Given the description of an element on the screen output the (x, y) to click on. 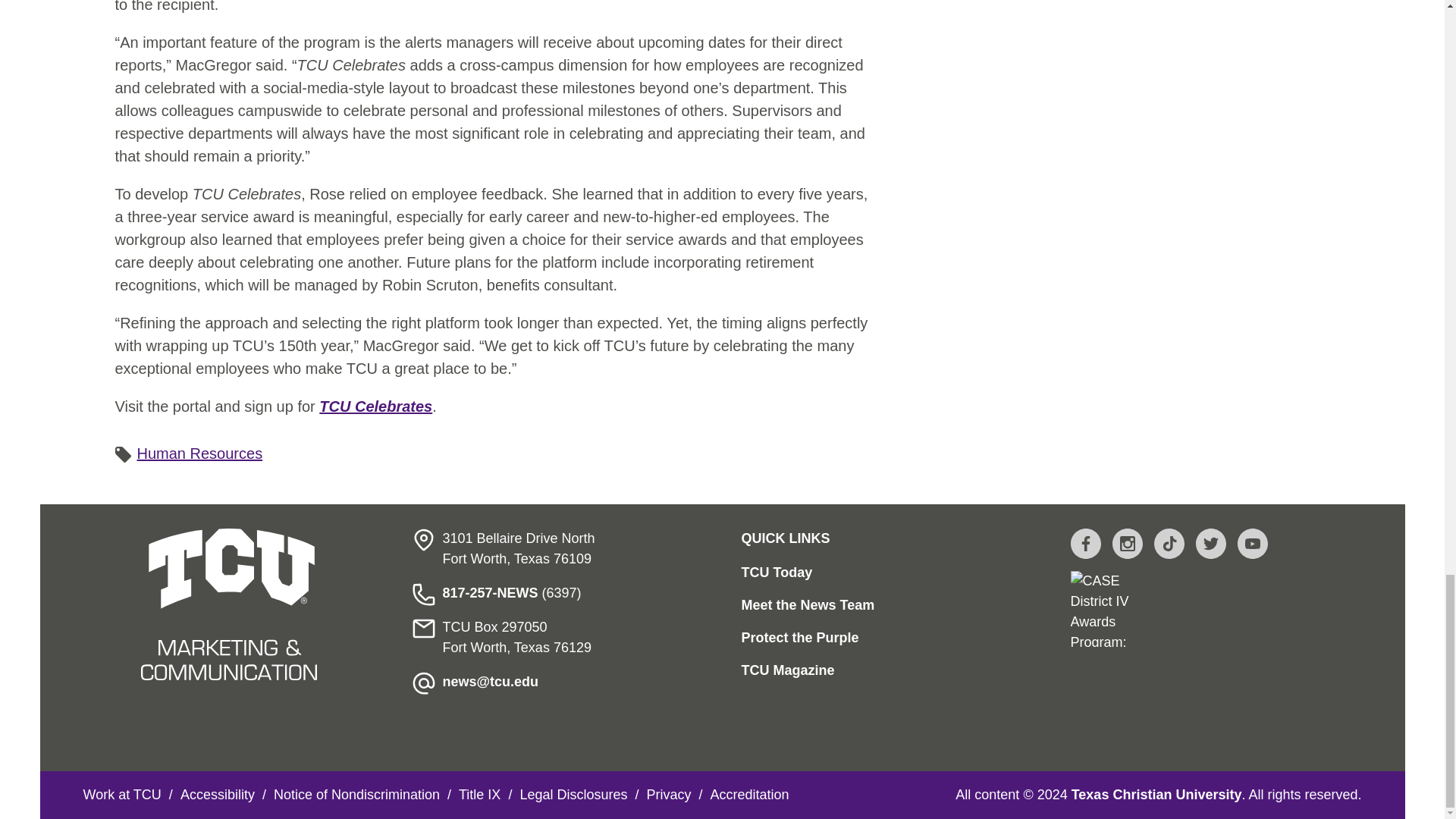
Human Resources (199, 453)
TCU Celebrates (375, 406)
